Given the description of an element on the screen output the (x, y) to click on. 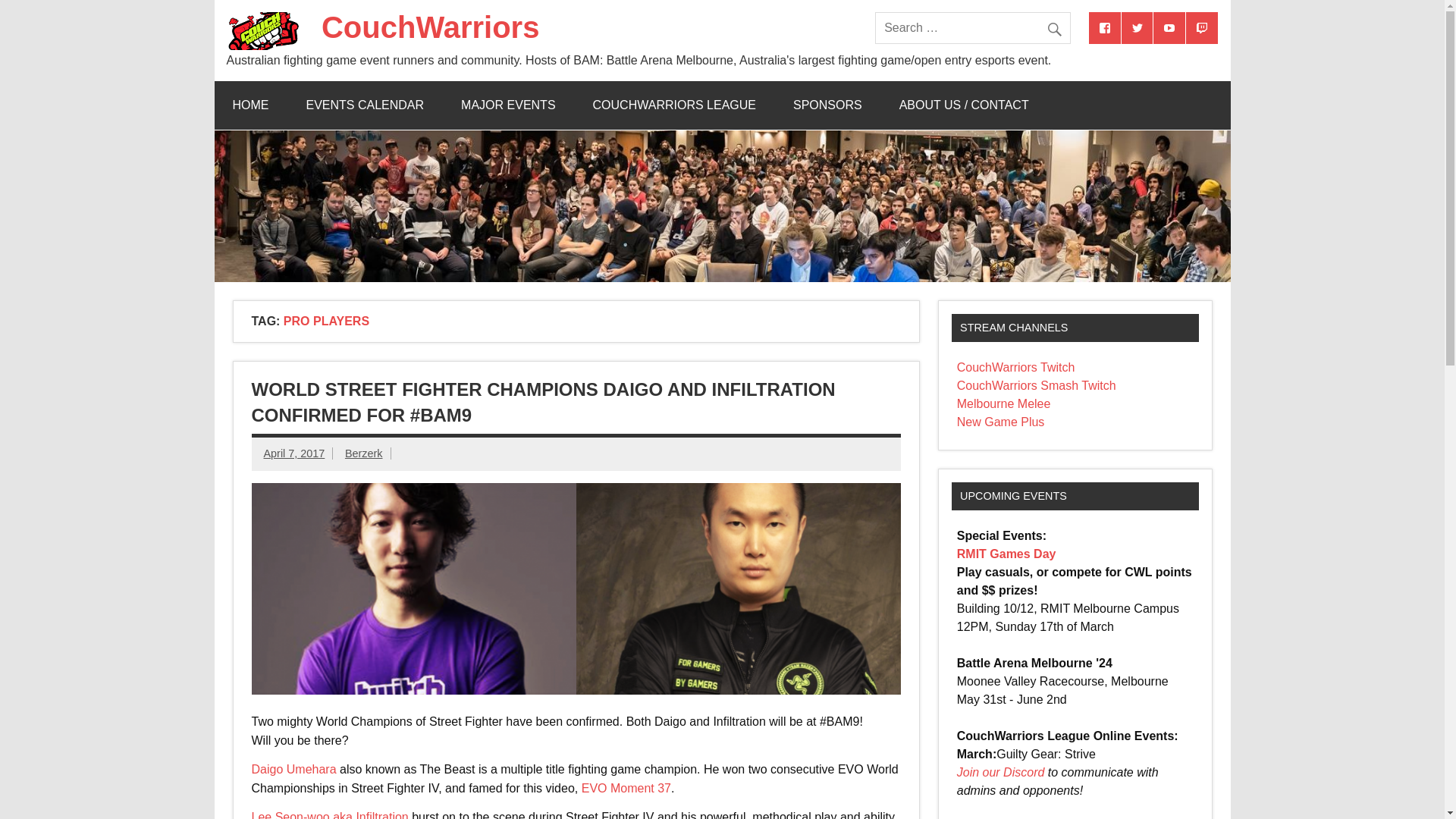
Daigo Umehara (293, 768)
CouchWarriors (429, 27)
CouchWarriors Twitch (1015, 367)
COUCHWARRIORS LEAGUE (674, 105)
SPONSORS (827, 105)
CouchWarriors Smash Twitch (1036, 385)
Lee Seon-woo aka Infiltration (330, 814)
New Game Plus (1000, 421)
1:07 pm (293, 453)
Join our Discord (1000, 771)
